Given the description of an element on the screen output the (x, y) to click on. 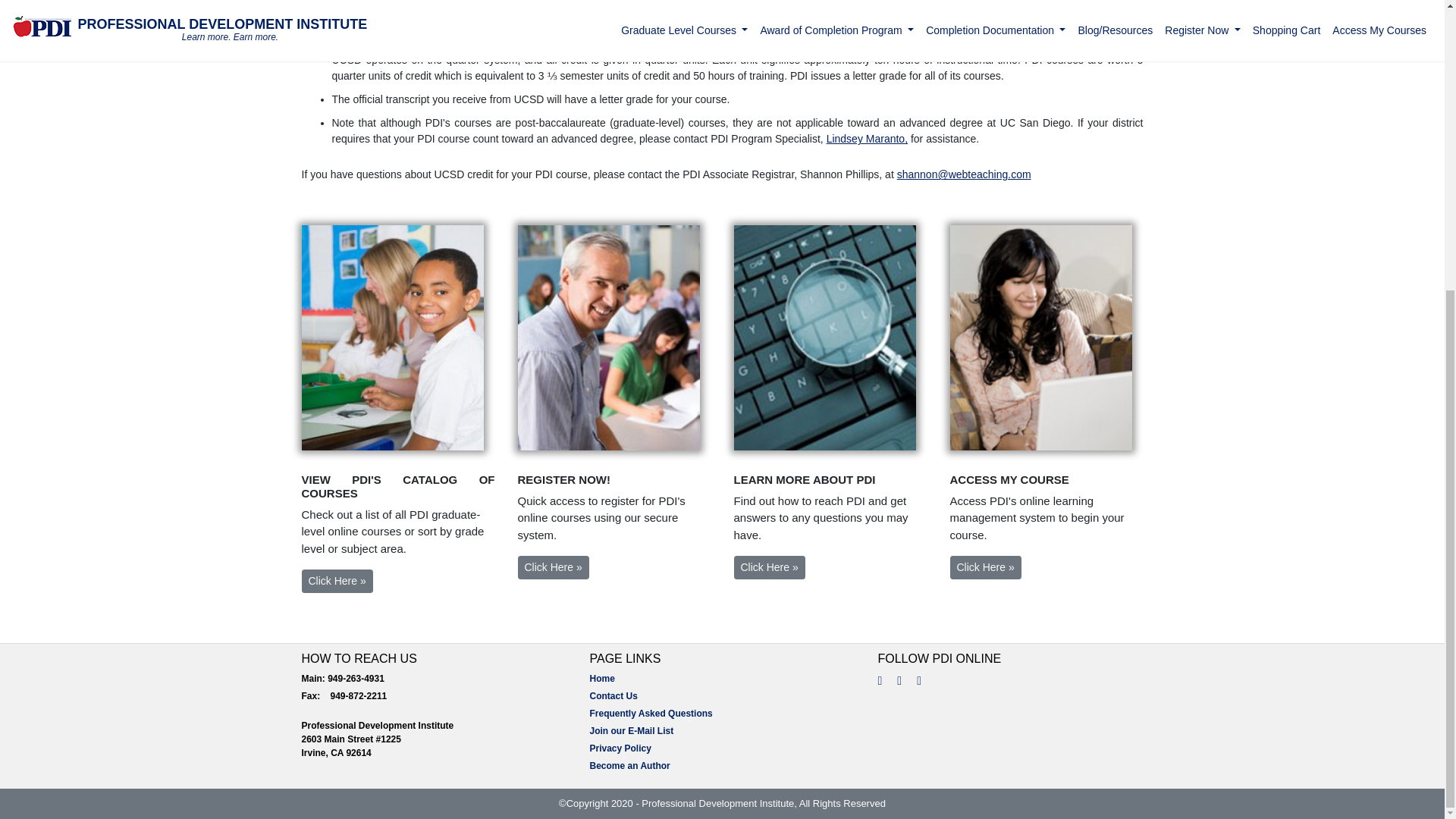
Lindsey Maranto, (867, 138)
